Given the description of an element on the screen output the (x, y) to click on. 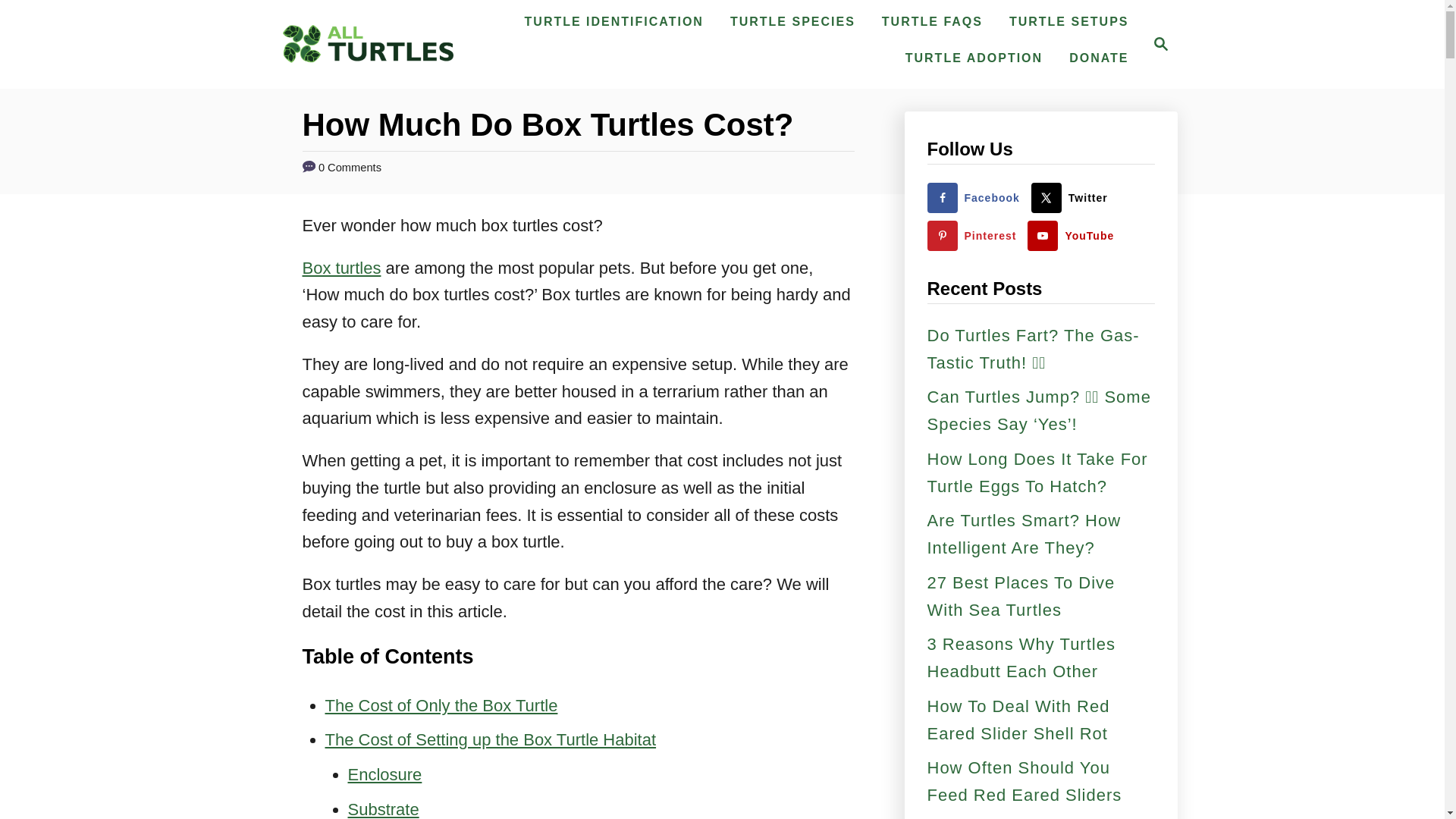
Magnifying Glass (1160, 44)
DONATE (1098, 58)
TURTLE IDENTIFICATION (613, 21)
Follow on Facebook (976, 197)
Box turtles (340, 267)
TURTLE ADOPTION (973, 58)
The Cost of Setting up the Box Turtle Habitat (490, 739)
Substrate (383, 809)
Follow on Pinterest (974, 235)
The Cost of Only the Box Turtle (440, 705)
